Given the description of an element on the screen output the (x, y) to click on. 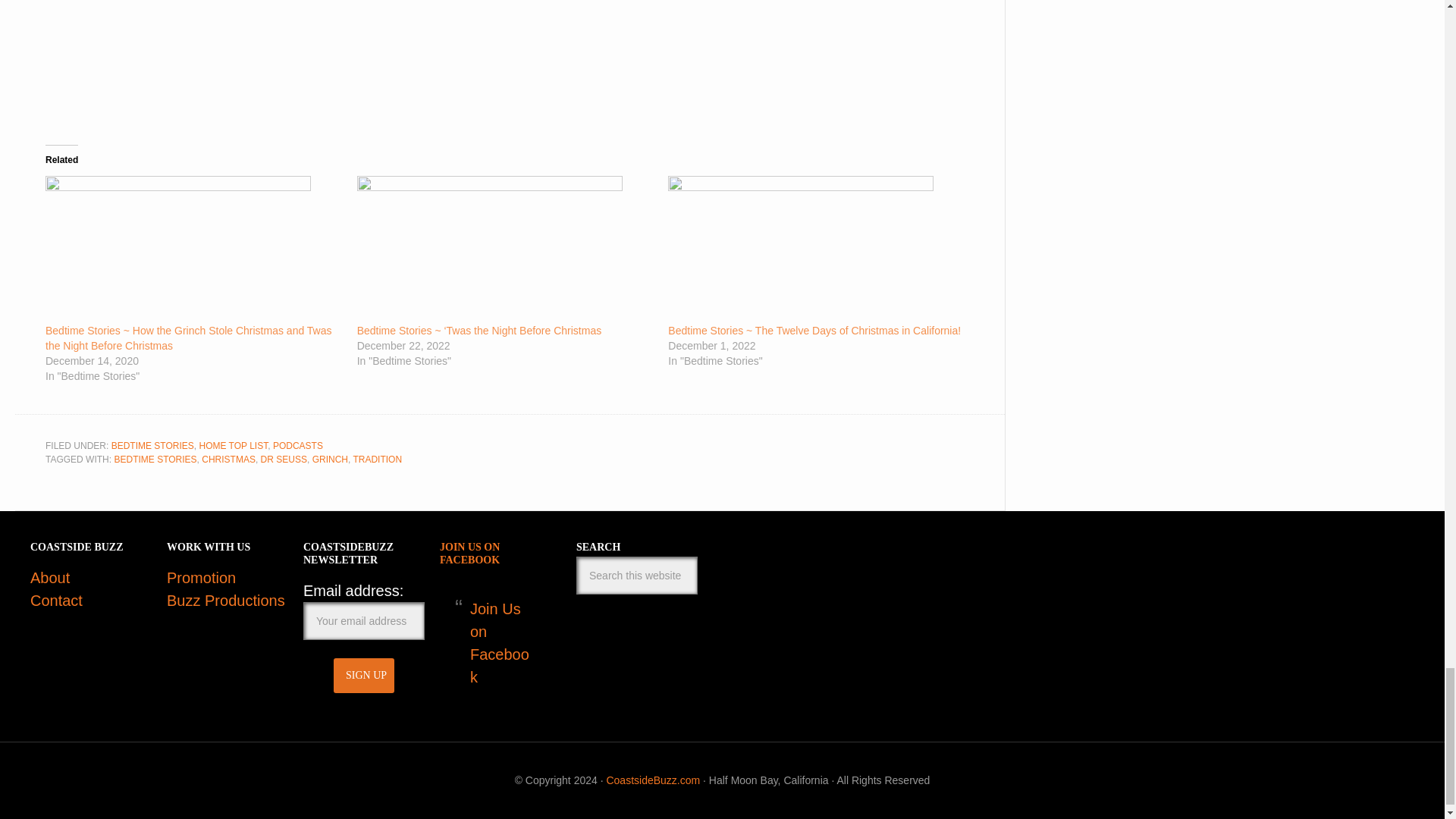
Sign up (363, 675)
